Given the description of an element on the screen output the (x, y) to click on. 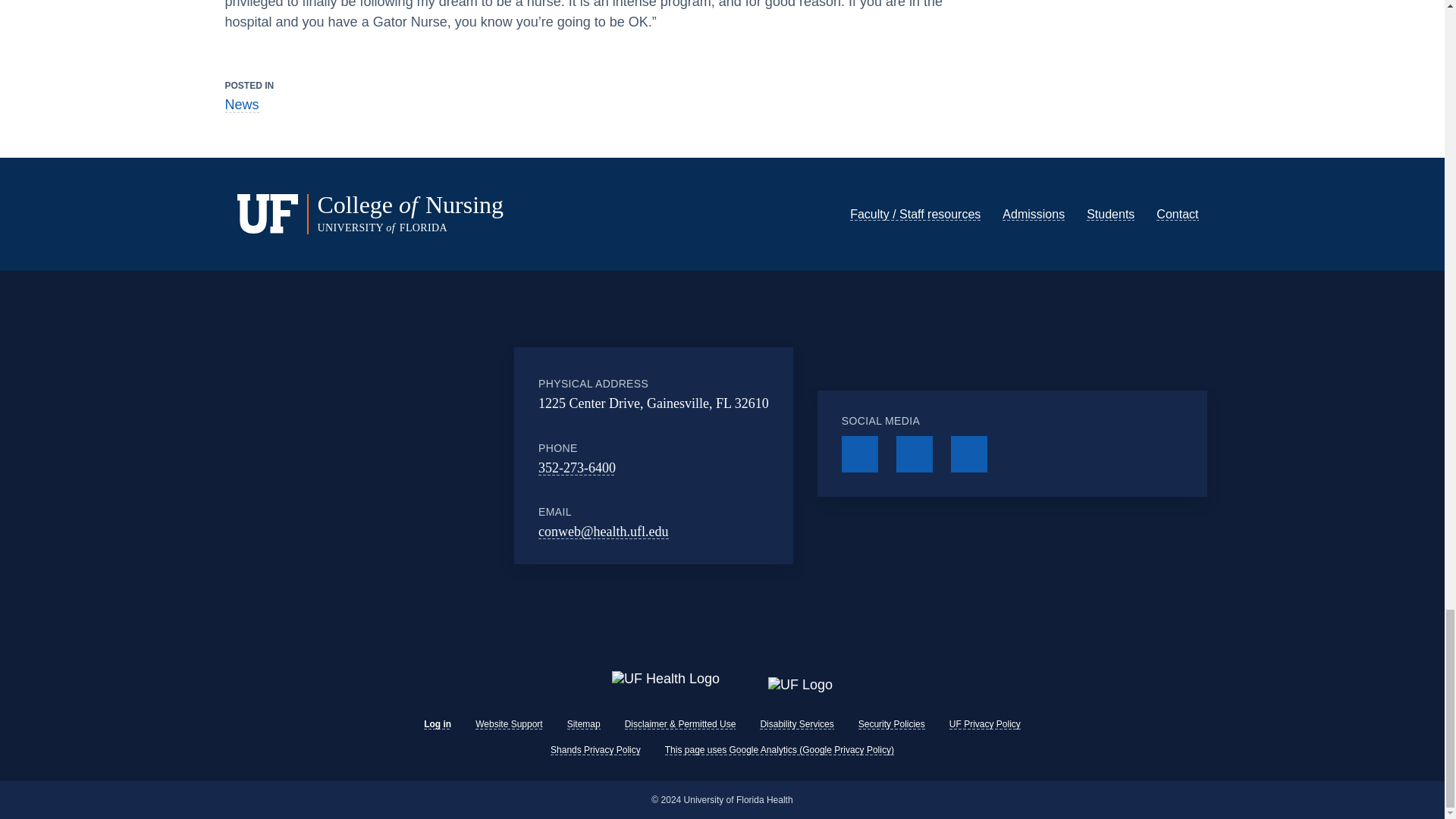
Log in (437, 724)
Security Policies (891, 724)
Sitemap (583, 724)
Admissions (1033, 214)
352-273-6400 (576, 467)
Website Support (509, 724)
Contact (1177, 214)
Disability Services (796, 724)
Students (1110, 214)
Google Maps Embed (423, 455)
